Given the description of an element on the screen output the (x, y) to click on. 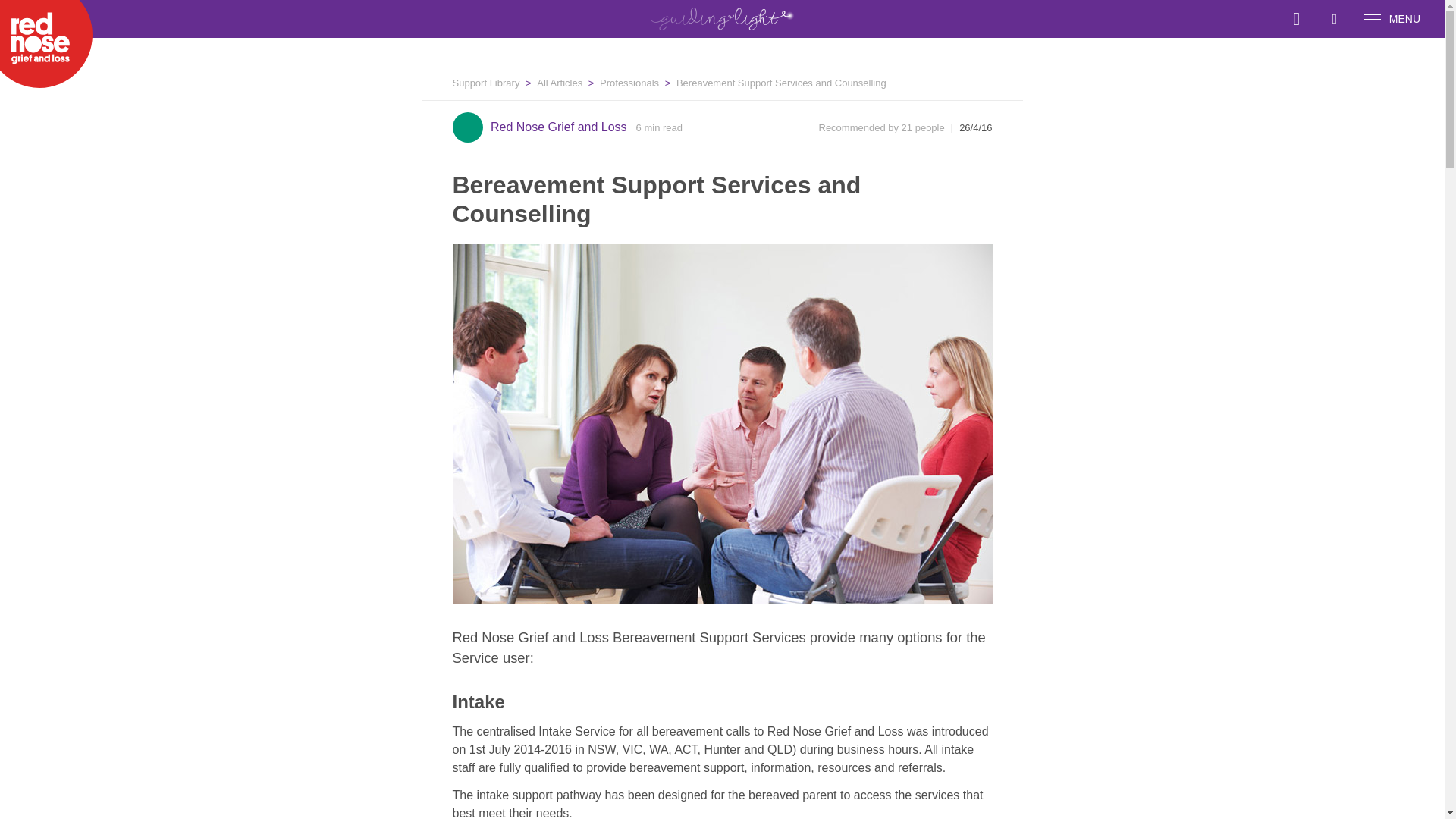
All Articles (552, 82)
Search (1311, 18)
Professionals (622, 82)
Support Library (485, 82)
